Given the description of an element on the screen output the (x, y) to click on. 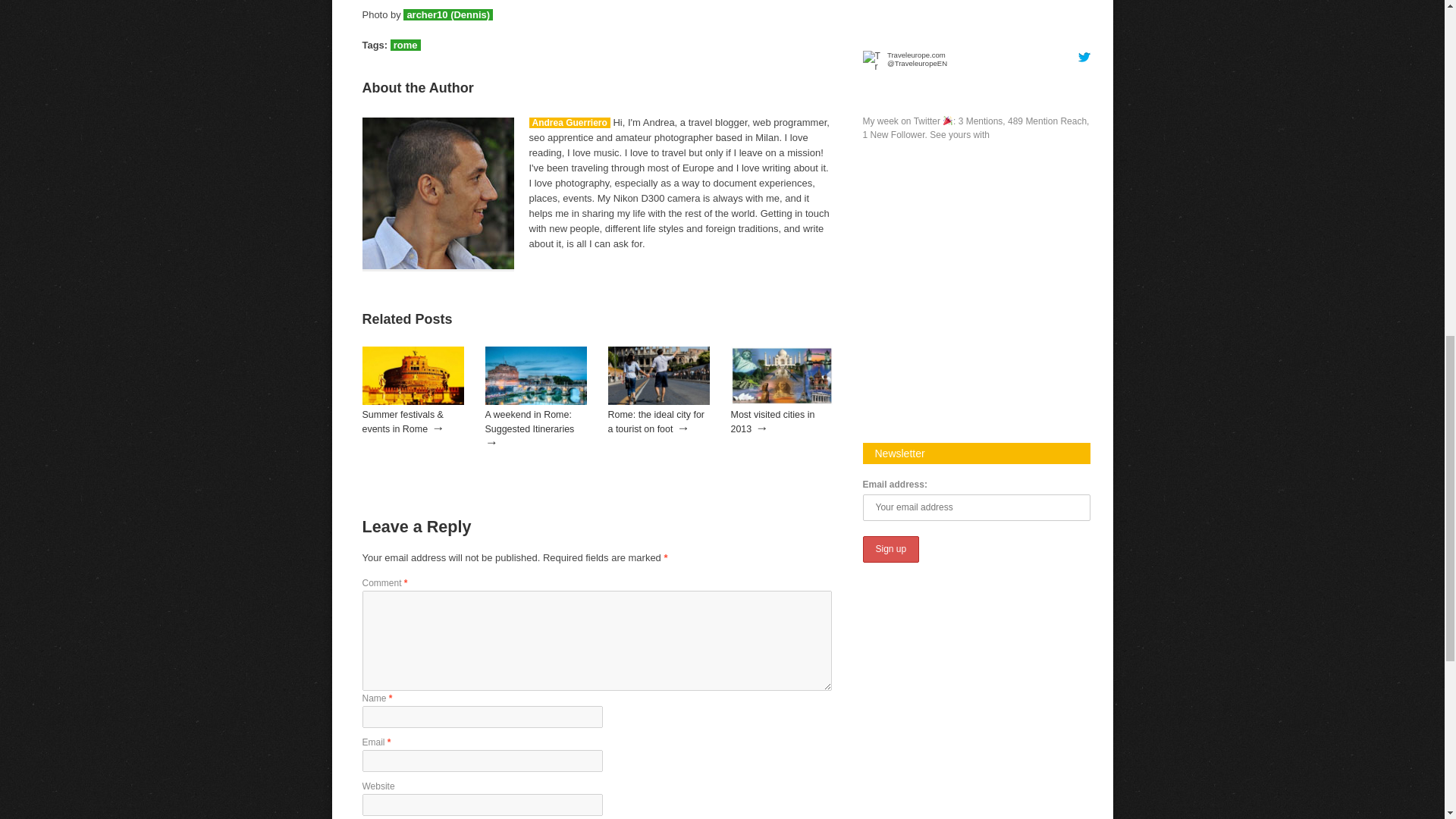
Most visited cities in 2013 (781, 401)
Rome: the ideal city for a tourist on foot (656, 421)
Sign up (891, 549)
Rome: the ideal city for a tourist on foot (656, 421)
Posts by Andrea Guerriero (569, 122)
Most visited cities in 2013 (772, 421)
Rome: the ideal city for a tourist on foot (659, 401)
rome (405, 44)
A weekend in Rome: Suggested Itineraries (535, 401)
Most visited cities in 2013 (772, 421)
A weekend in Rome: Suggested Itineraries (529, 421)
A weekend in Rome: Suggested Itineraries (529, 421)
Andrea Guerriero (569, 122)
